Given the description of an element on the screen output the (x, y) to click on. 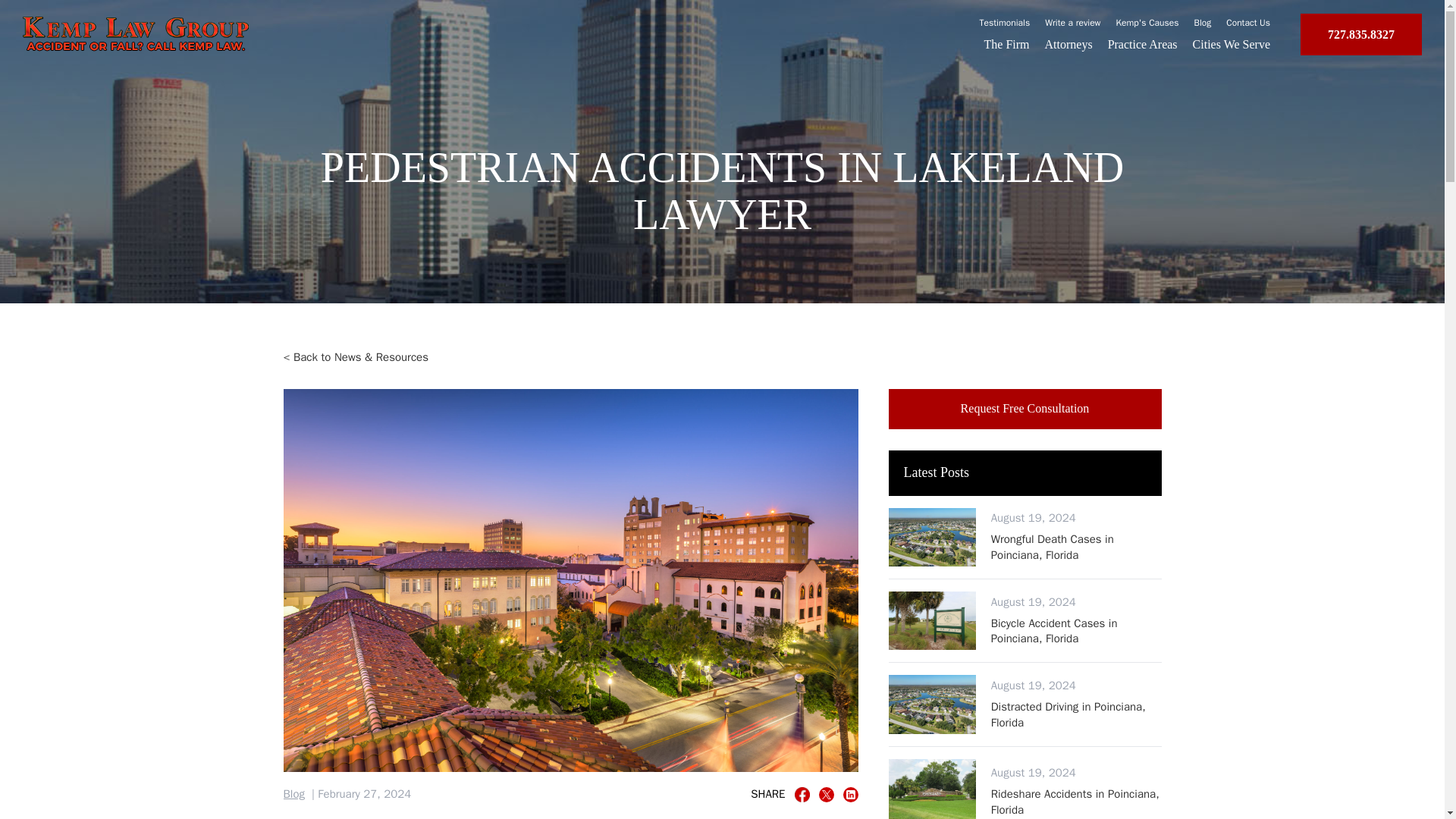
Bicycle Accident Cases in Poinciana, Florida (1076, 631)
Cities We Serve (1230, 43)
Blog (1202, 22)
Blog (293, 794)
Wrongful Death Cases in Poinciana, Florida (1076, 546)
Attorneys (1069, 43)
Kemp's Causes (1147, 22)
The Firm (1006, 43)
Practice Areas (1142, 43)
Latest Posts (1024, 473)
